Given the description of an element on the screen output the (x, y) to click on. 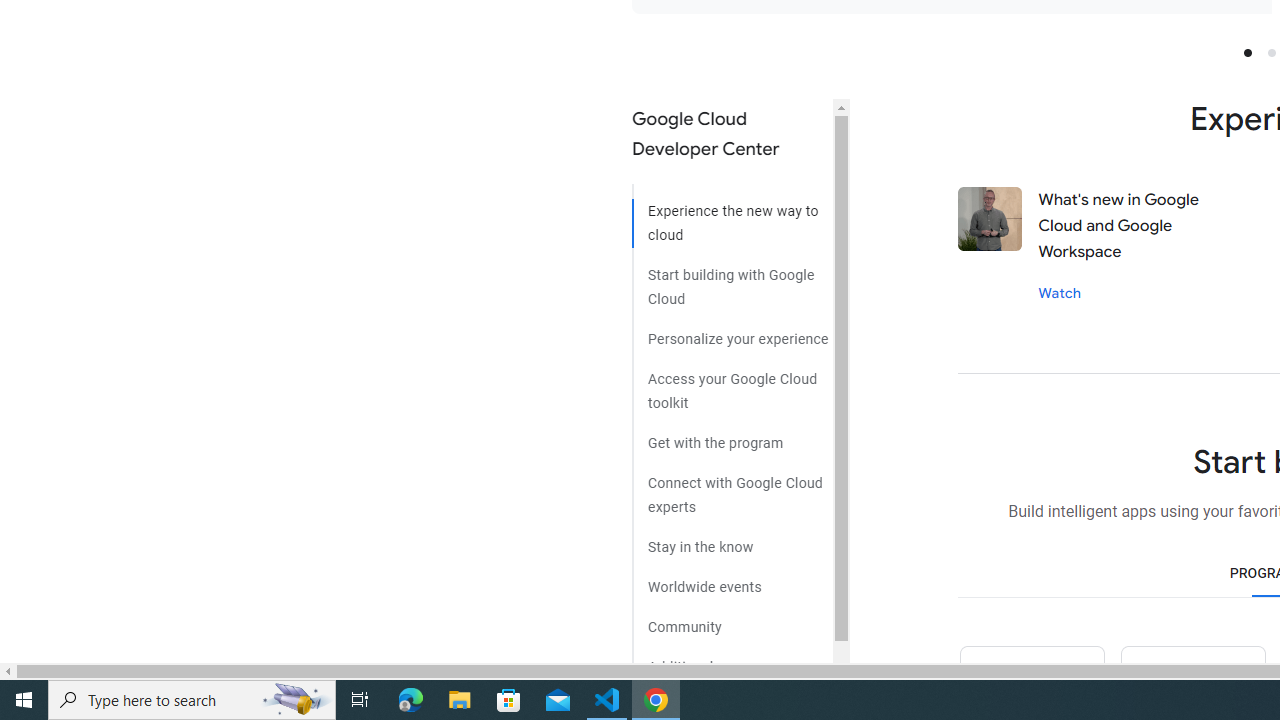
Experience the new way to cloud (732, 215)
Community (732, 619)
Connect with Google Cloud experts (732, 487)
Slide 2 (1271, 52)
Stay in the know (732, 539)
Worldwide events (732, 579)
Watch (1059, 292)
Start building with Google Cloud (732, 279)
Java icon (1192, 682)
Get with the program (732, 435)
Python icon (1031, 682)
Slide 1 (1247, 52)
Access your Google Cloud toolkit (732, 384)
Additional resources (732, 659)
